Given the description of an element on the screen output the (x, y) to click on. 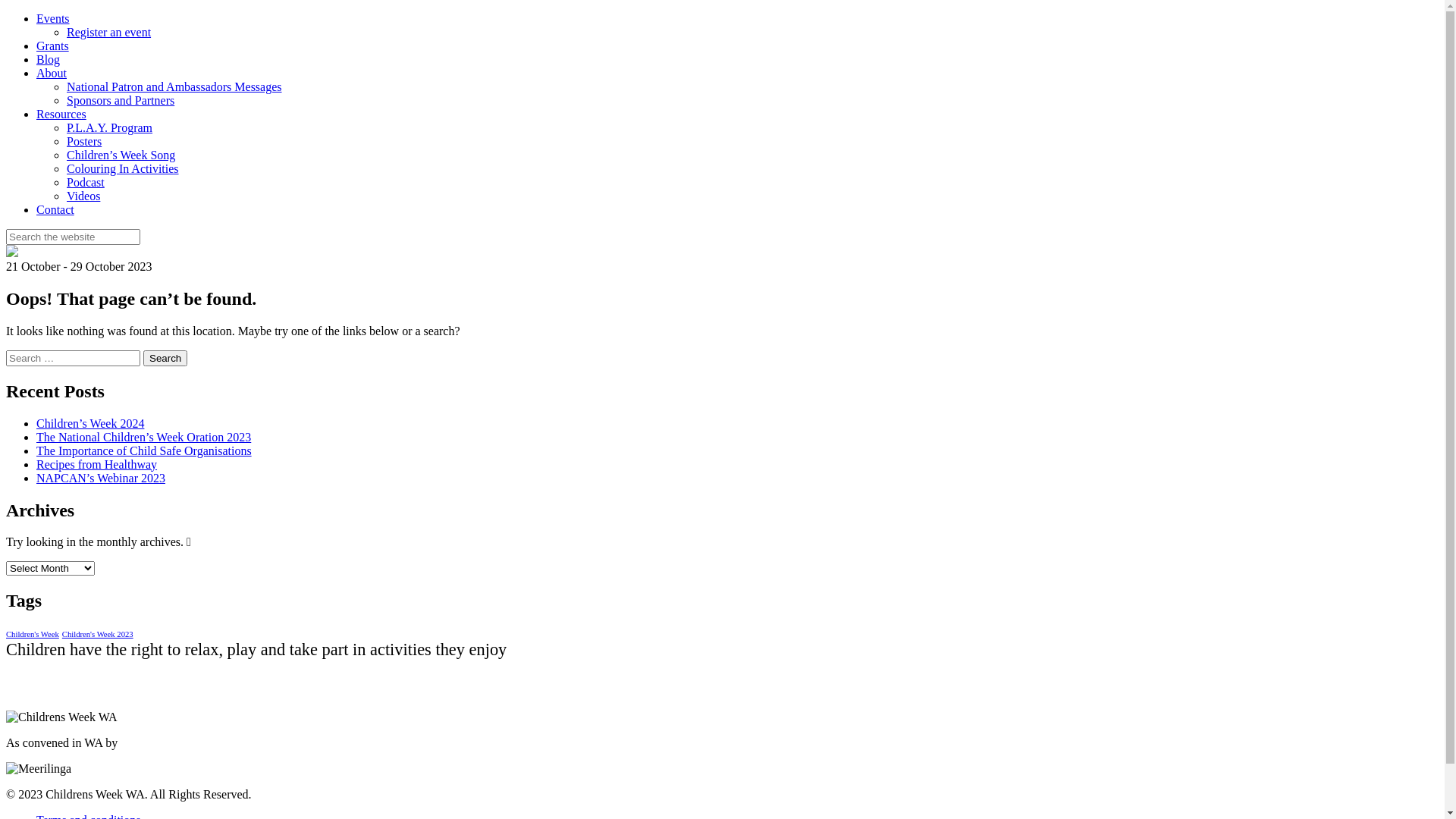
Events Element type: text (52, 18)
Podcast Element type: text (85, 181)
Sponsors and Partners Element type: text (120, 100)
Search Element type: text (165, 358)
Colouring In Activities Element type: text (122, 168)
About Element type: text (51, 72)
The Importance of Child Safe Organisations Element type: text (143, 450)
Children's Week Element type: text (32, 634)
Recipes from Healthway Element type: text (96, 464)
National Patron and Ambassadors Messages Element type: text (174, 86)
Contact Element type: text (55, 209)
Videos Element type: text (83, 195)
Posters Element type: text (83, 140)
P.L.A.Y. Program Element type: text (109, 127)
Grants Element type: text (52, 45)
Blog Element type: text (47, 59)
Children's Week 2023 Element type: text (97, 634)
Skip to content Element type: text (5, 11)
Register an event Element type: text (108, 31)
Resources Element type: text (61, 113)
